Given the description of an element on the screen output the (x, y) to click on. 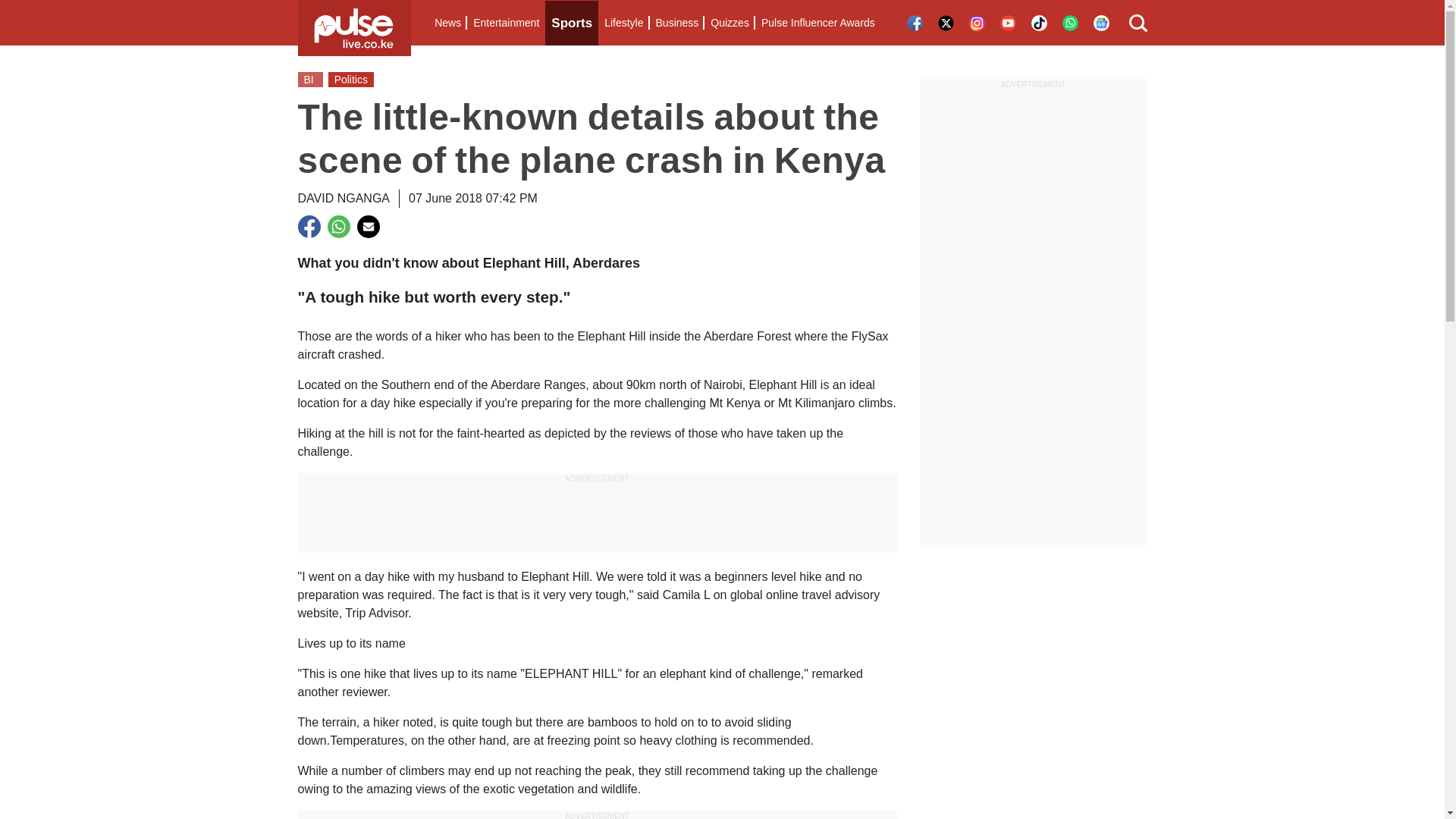
Entertainment (505, 22)
Business (676, 22)
Quizzes (729, 22)
Pulse Influencer Awards (817, 22)
Sports (571, 22)
Lifestyle (623, 22)
